Given the description of an element on the screen output the (x, y) to click on. 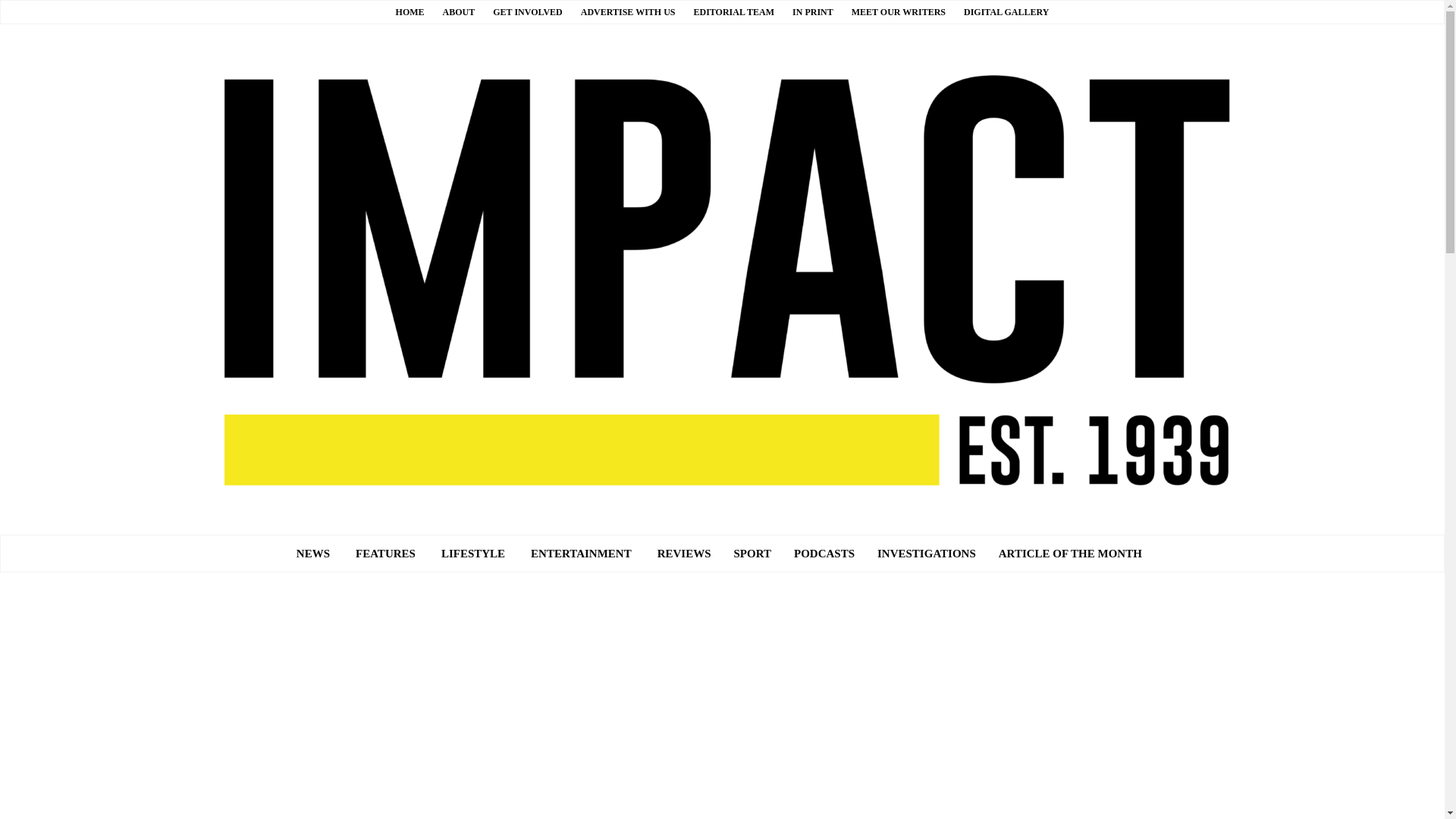
IN PRINT (812, 11)
News (312, 553)
NEWS (312, 553)
ADVERTISE WITH US (627, 11)
GET INVOLVED (527, 11)
DIGITAL GALLERY (1005, 11)
HOME (410, 11)
EDITORIAL TEAM (733, 11)
MEET OUR WRITERS (897, 11)
ABOUT (459, 11)
